Given the description of an element on the screen output the (x, y) to click on. 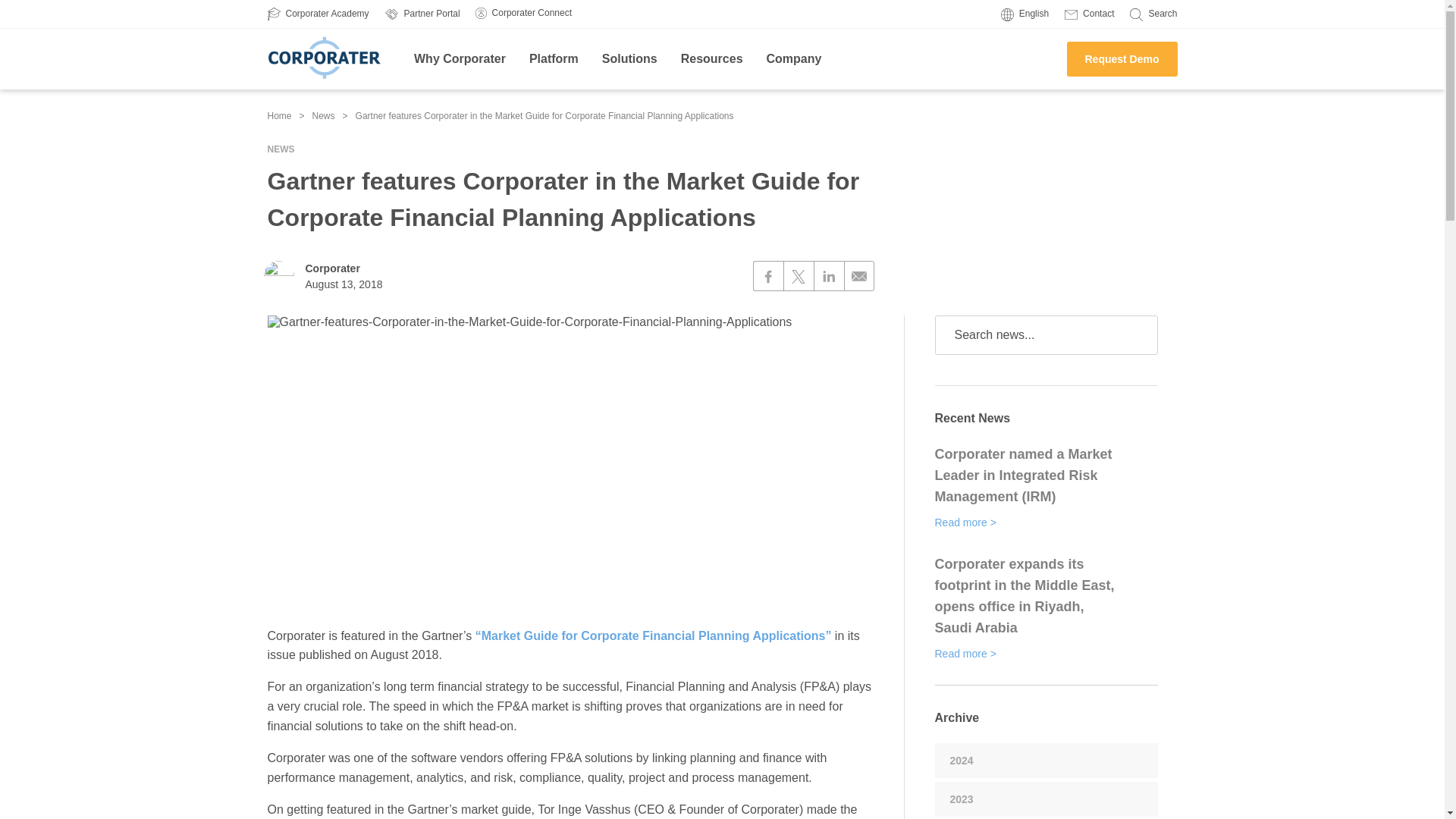
News (323, 115)
Corporater Academy (317, 13)
Home (278, 115)
Search (1152, 13)
Contact (1088, 13)
Partner Portal (422, 13)
English (1024, 13)
Corporater Connect (524, 12)
